Given the description of an element on the screen output the (x, y) to click on. 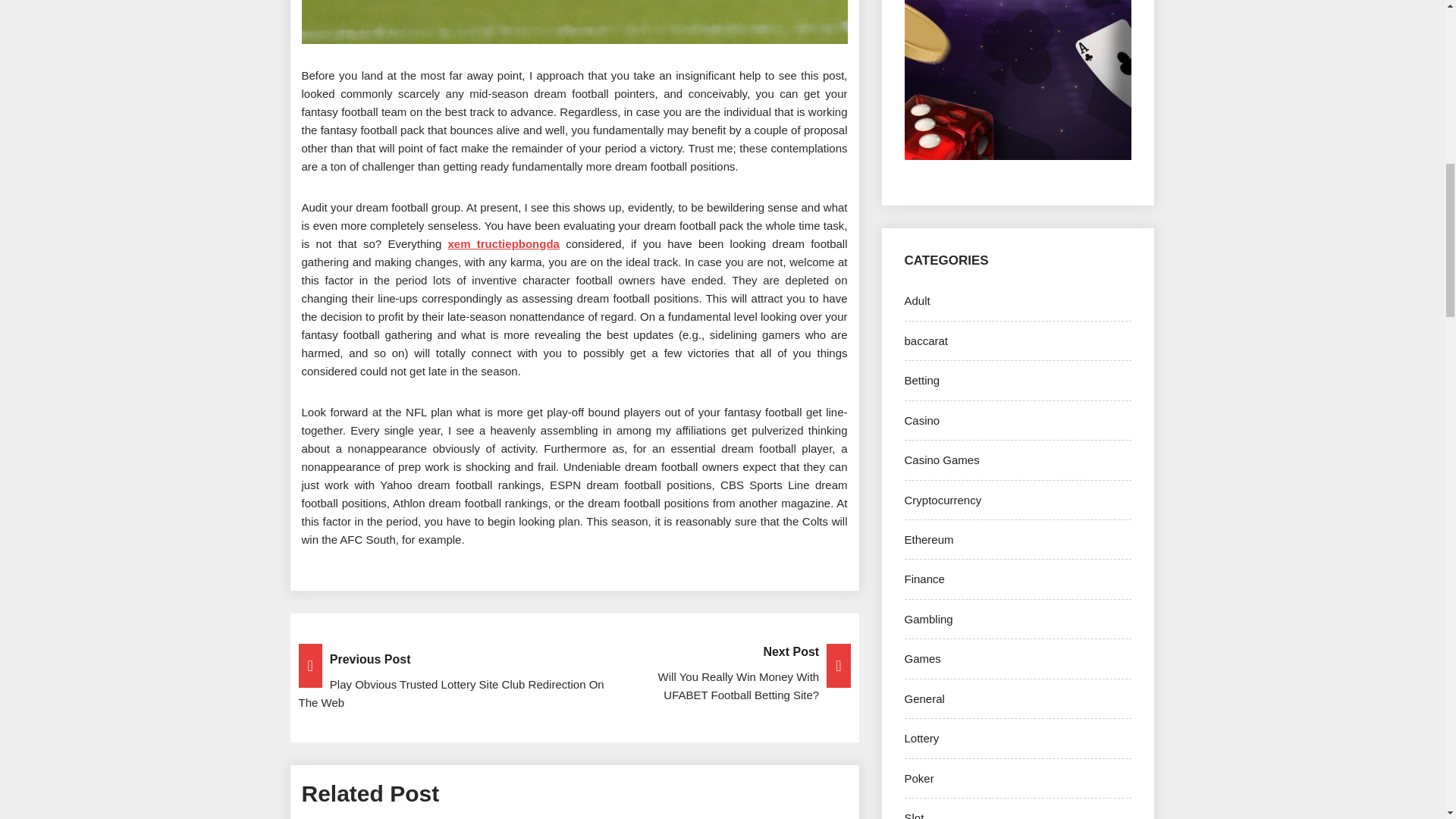
baccarat (925, 340)
Slot (913, 815)
Betting (921, 379)
Poker (918, 778)
Gambling (928, 618)
Ethereum (928, 539)
General (923, 698)
Casino Games (941, 459)
Cryptocurrency (942, 499)
